Given the description of an element on the screen output the (x, y) to click on. 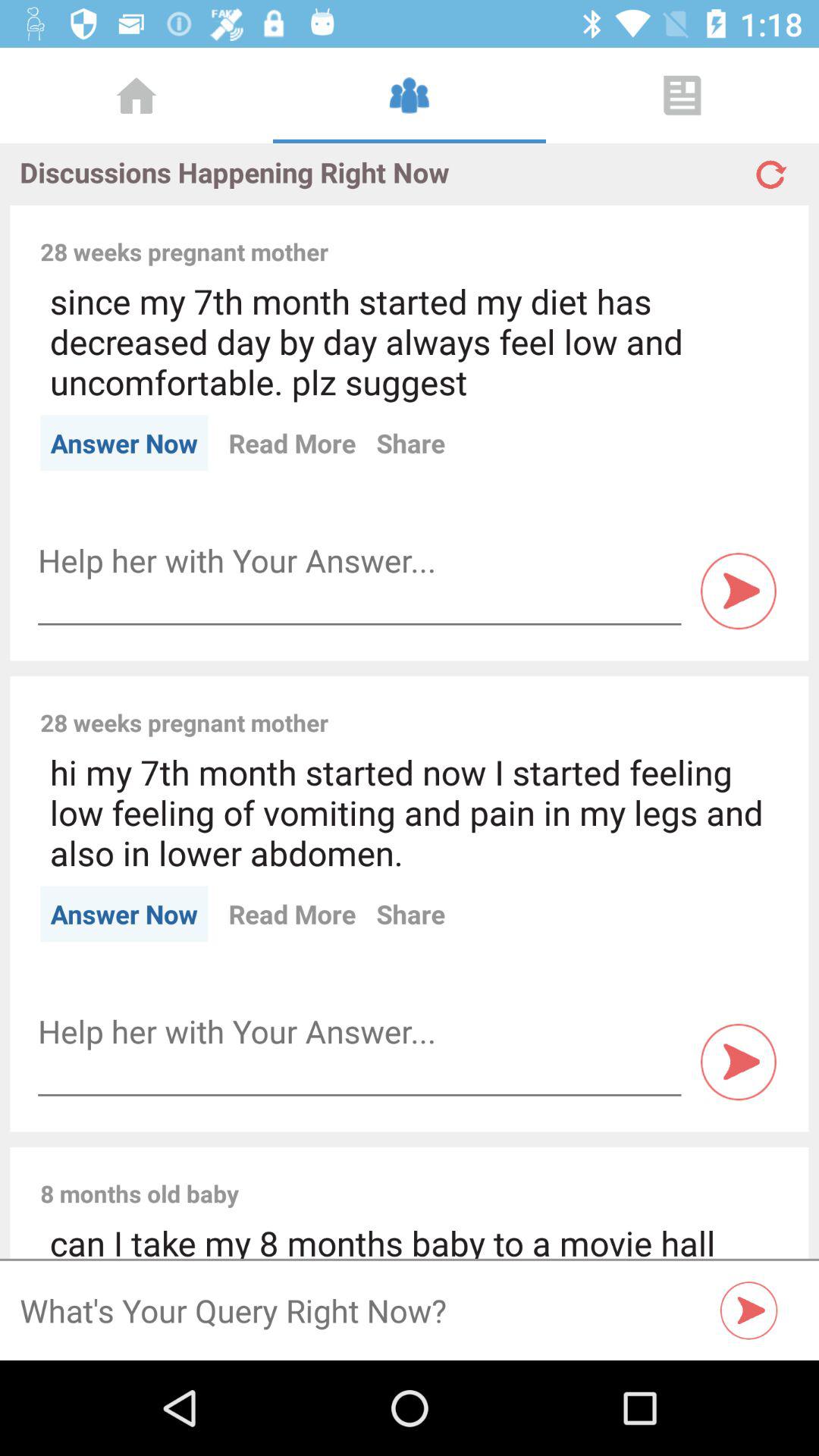
launch the can i take (409, 1238)
